Given the description of an element on the screen output the (x, y) to click on. 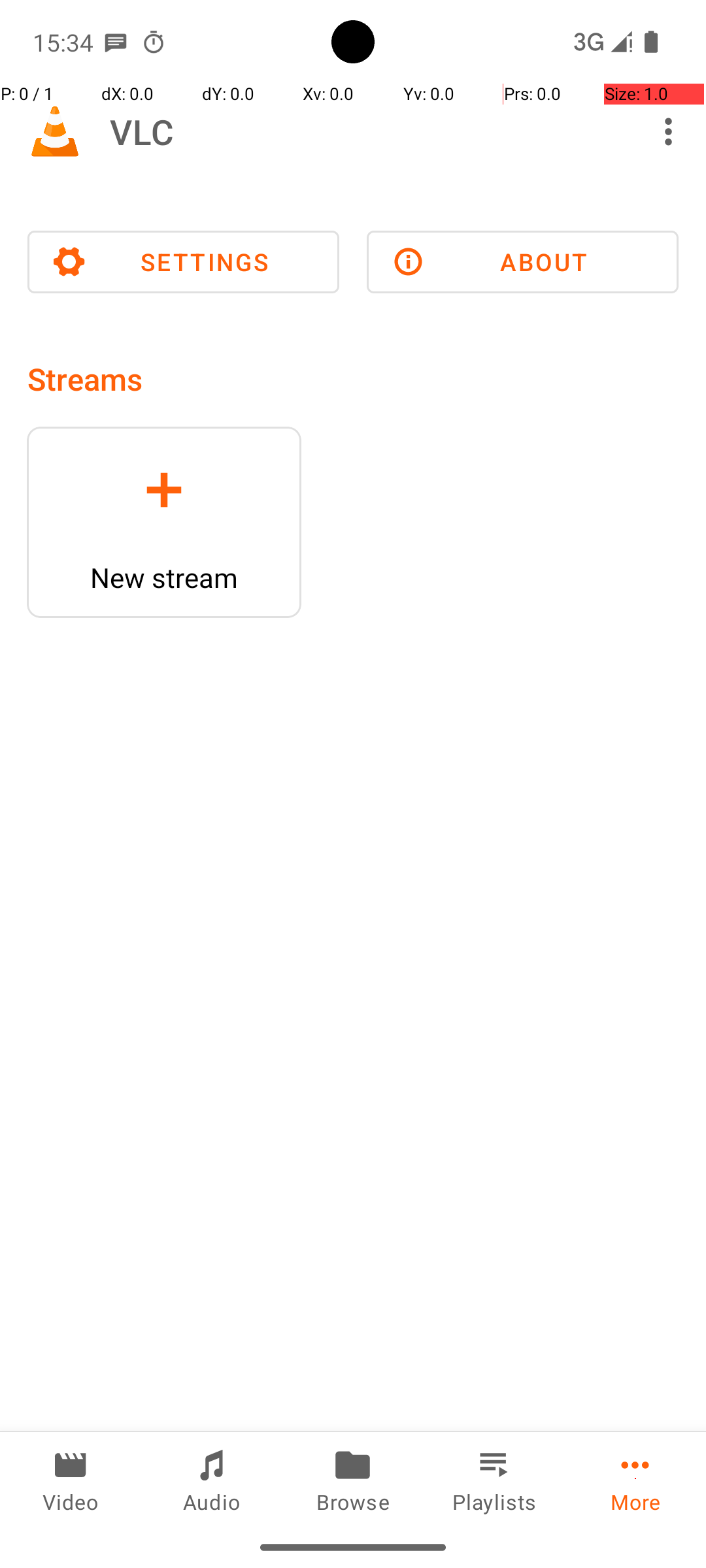
SETTINGS Element type: android.widget.Button (183, 261)
ABOUT Element type: android.widget.Button (522, 261)
Streams Element type: android.widget.TextView (84, 378)
New stream Element type: android.widget.TextView (163, 576)
